Given the description of an element on the screen output the (x, y) to click on. 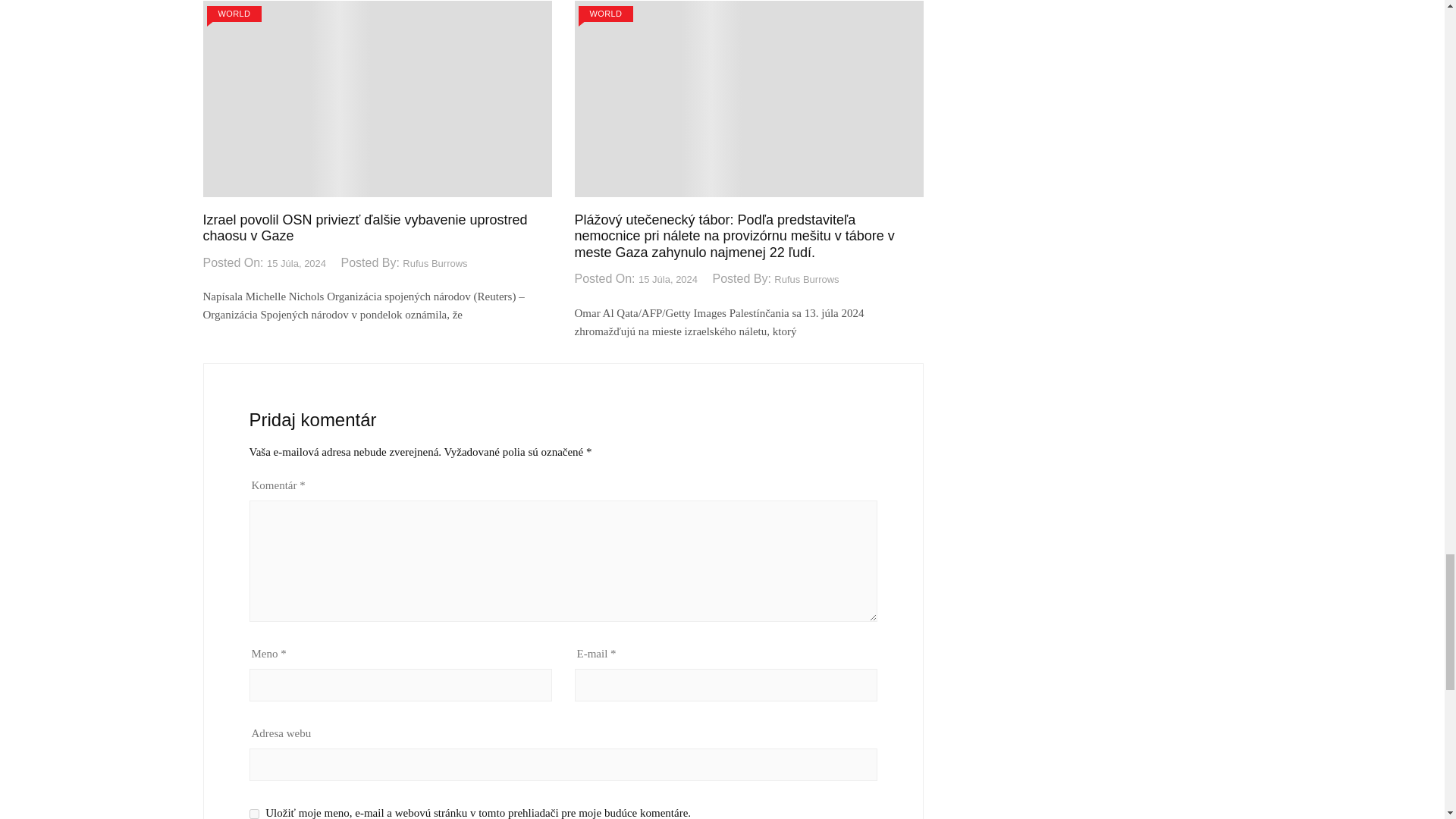
yes (253, 814)
